Given the description of an element on the screen output the (x, y) to click on. 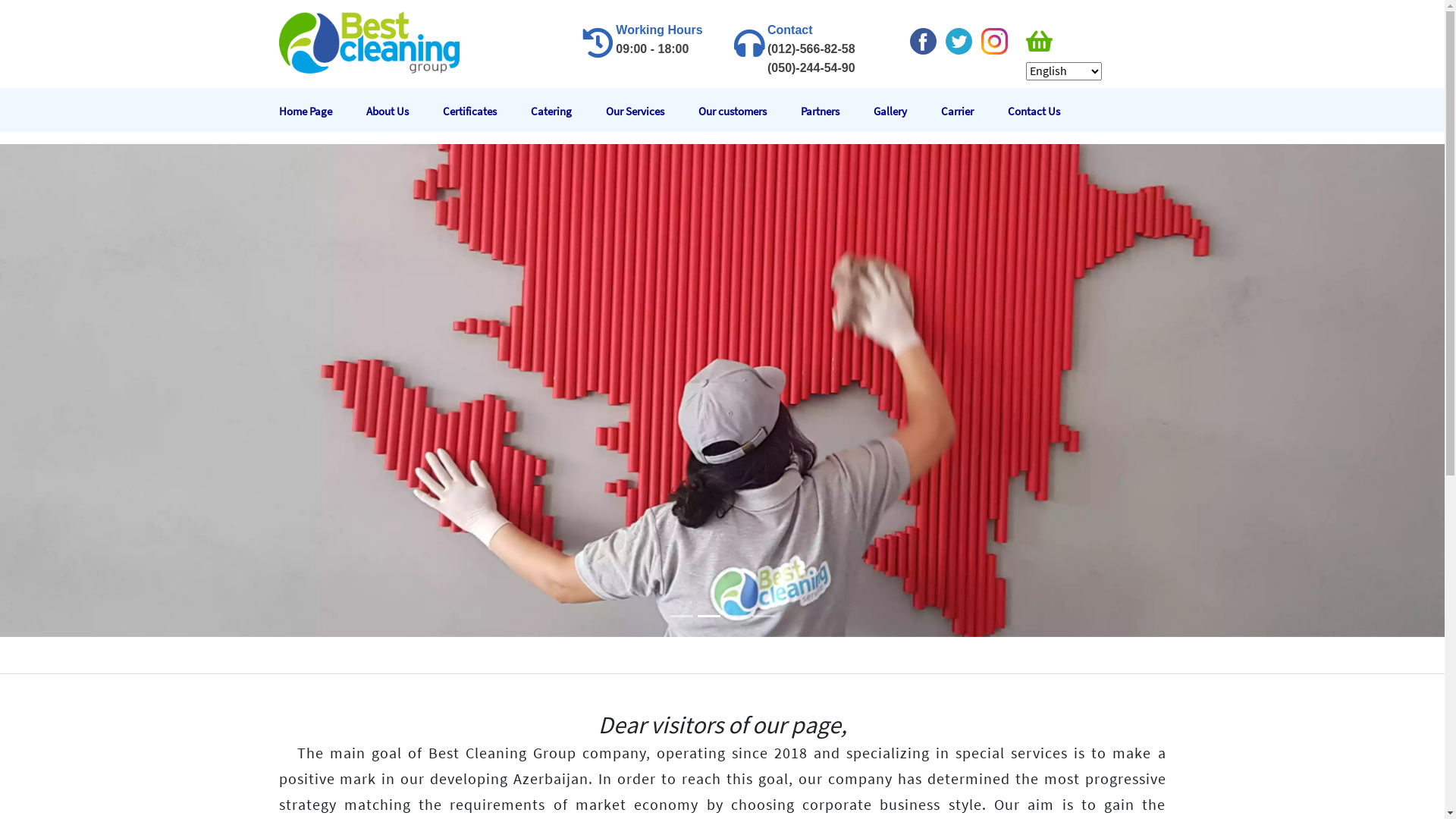
Contact Us Element type: text (1046, 110)
Gallery Element type: text (902, 110)
Partners Element type: text (832, 110)
Carrier Element type: text (969, 110)
Our customers Element type: text (744, 110)
About Us Element type: text (399, 110)
Certificates Element type: text (482, 110)
Catering Element type: text (563, 110)
Home Page Element type: text (318, 110)
Our Services Element type: text (647, 110)
